Given the description of an element on the screen output the (x, y) to click on. 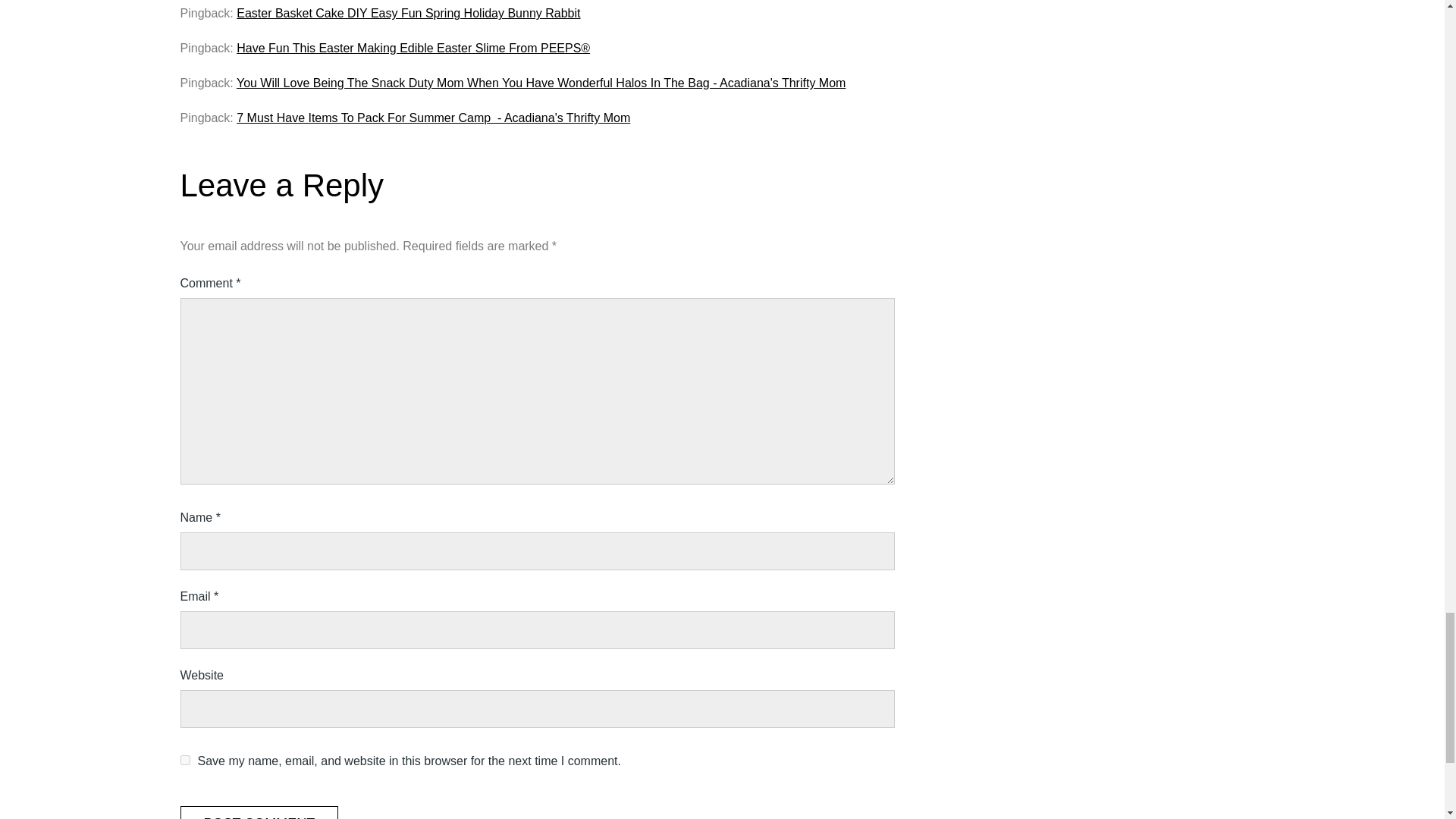
yes (185, 759)
Post Comment (259, 812)
